Given the description of an element on the screen output the (x, y) to click on. 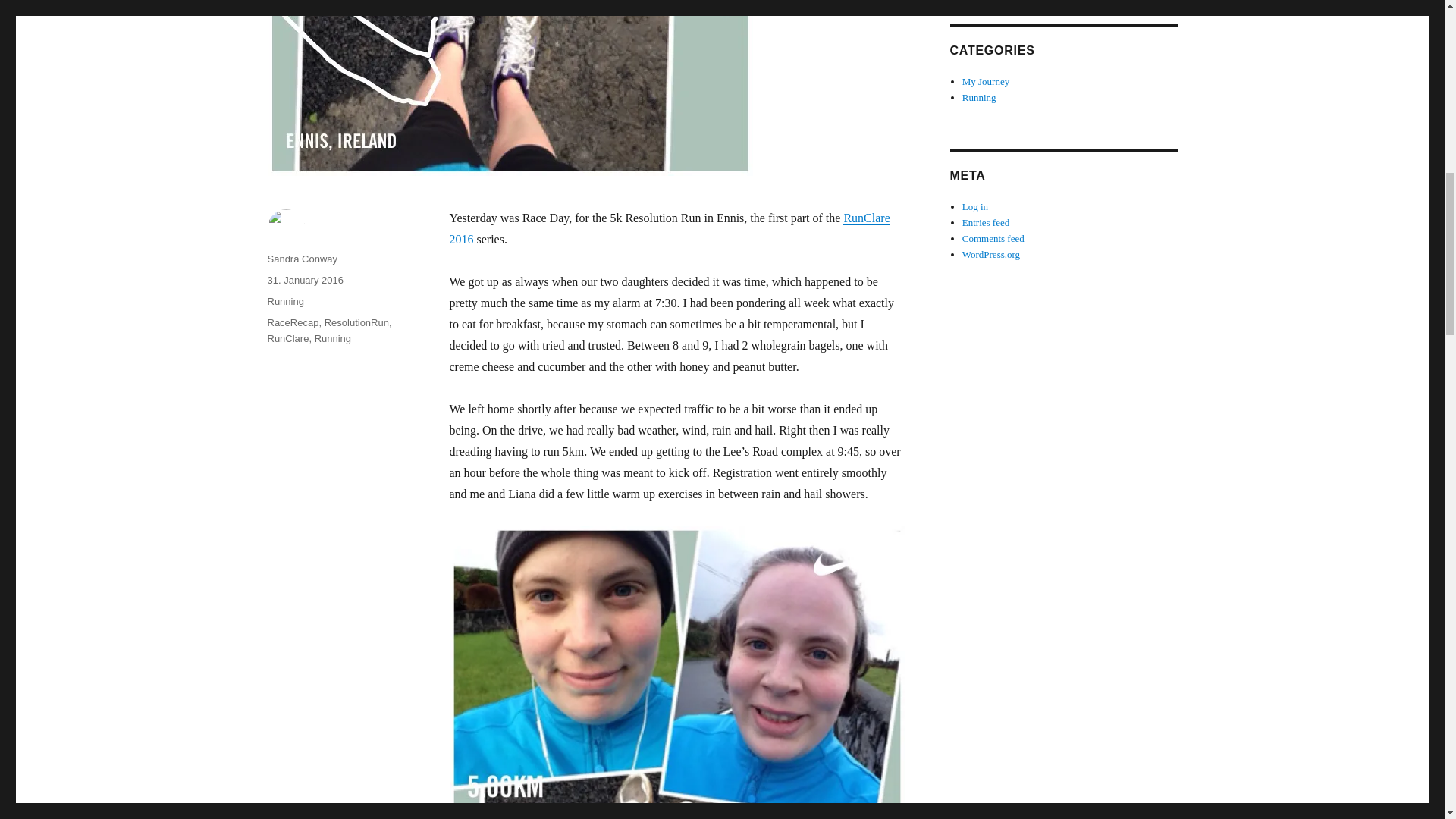
Running (332, 337)
31. January 2016 (304, 279)
ResolutionRun (356, 322)
WordPress.org (991, 254)
Comments feed (993, 238)
Running (978, 97)
RaceRecap (292, 322)
RunClare 2016 (668, 228)
Running (284, 301)
Sandra Conway (301, 258)
